Given the description of an element on the screen output the (x, y) to click on. 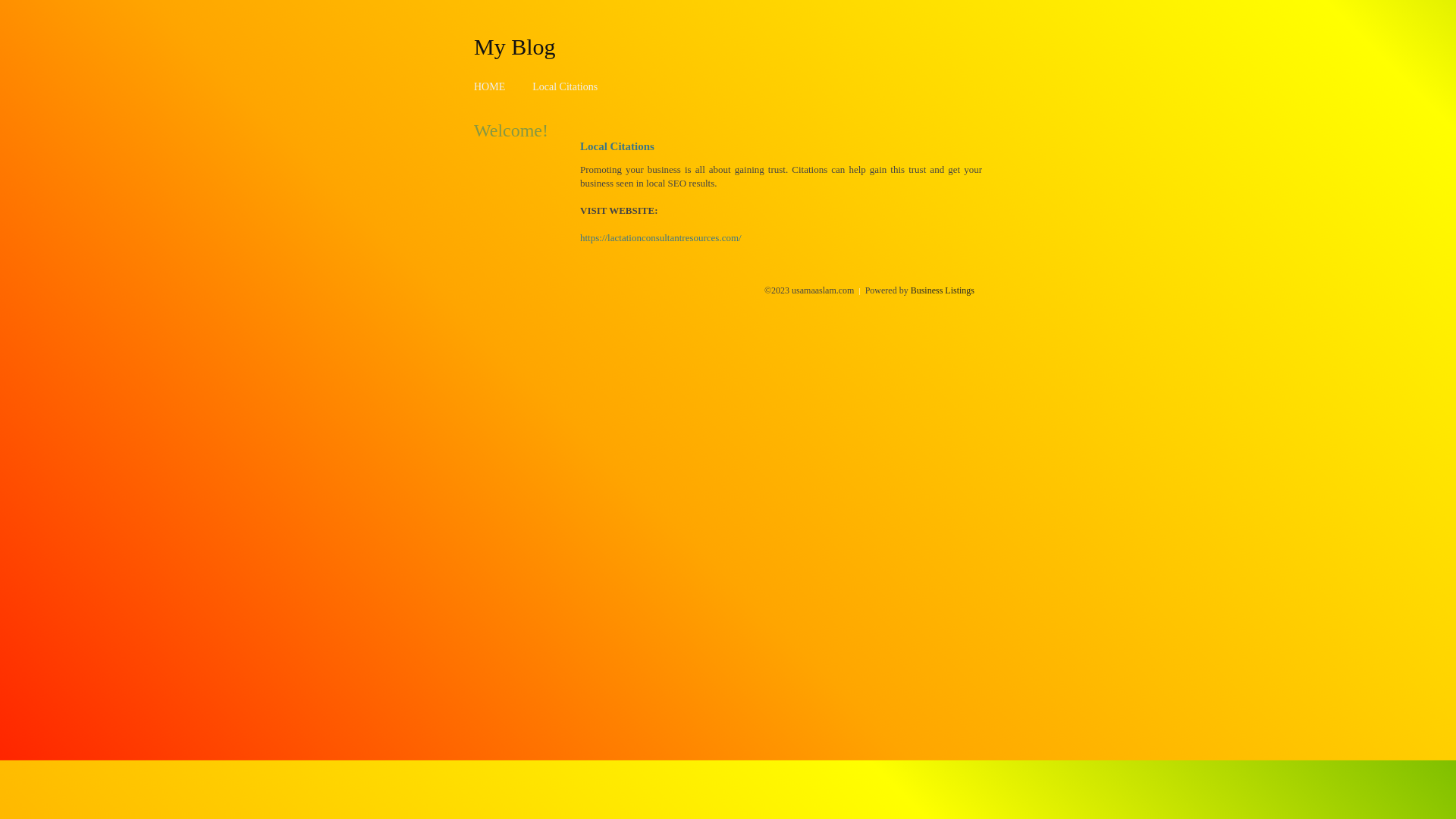
https://lactationconsultantresources.com/ Element type: text (660, 237)
HOME Element type: text (489, 86)
My Blog Element type: text (514, 46)
Local Citations Element type: text (564, 86)
Business Listings Element type: text (942, 290)
